Given the description of an element on the screen output the (x, y) to click on. 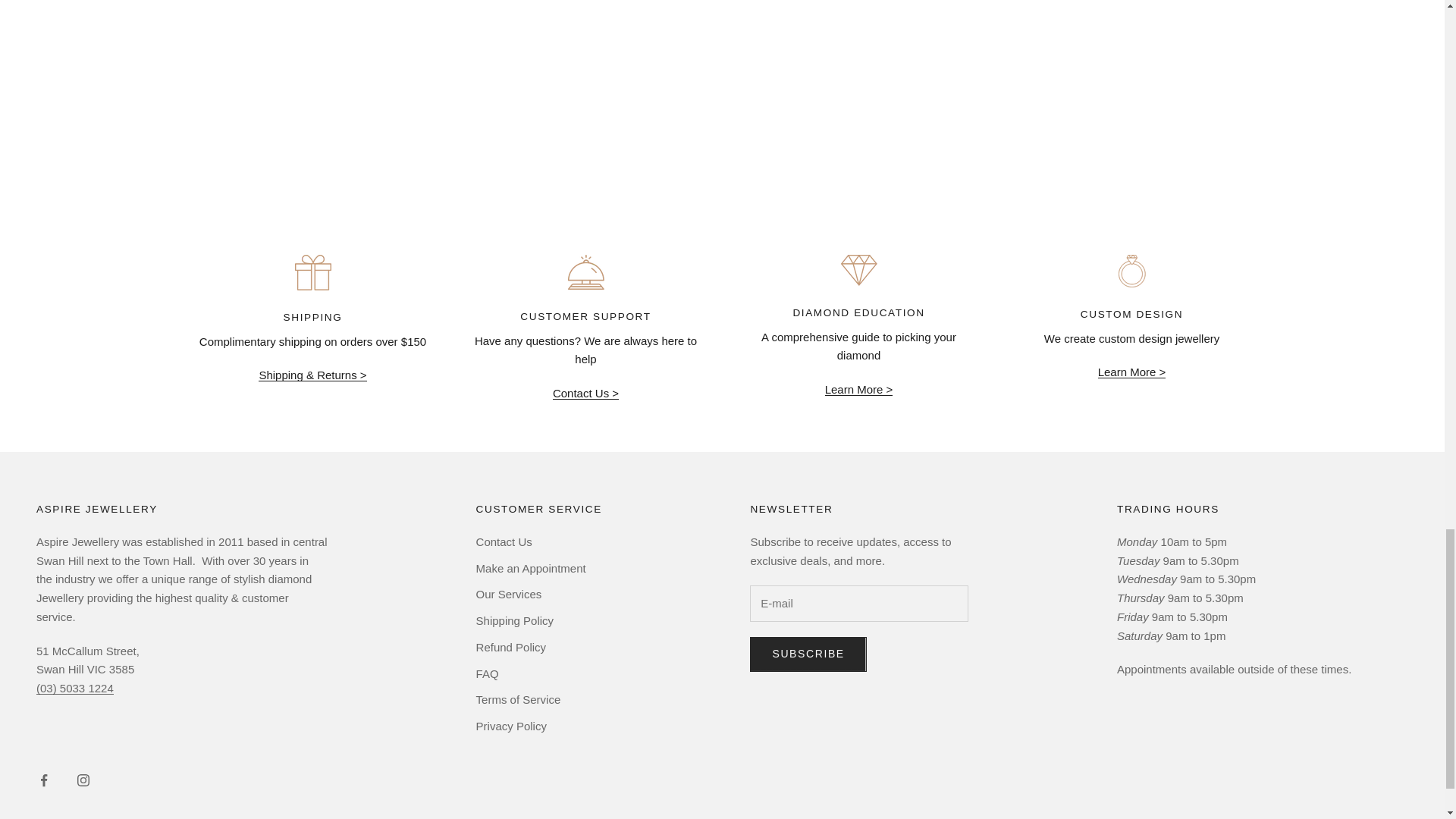
Shipping Policy (312, 374)
Diamond Education (859, 389)
Contact Us (585, 392)
Custom Design (1131, 371)
